Given the description of an element on the screen output the (x, y) to click on. 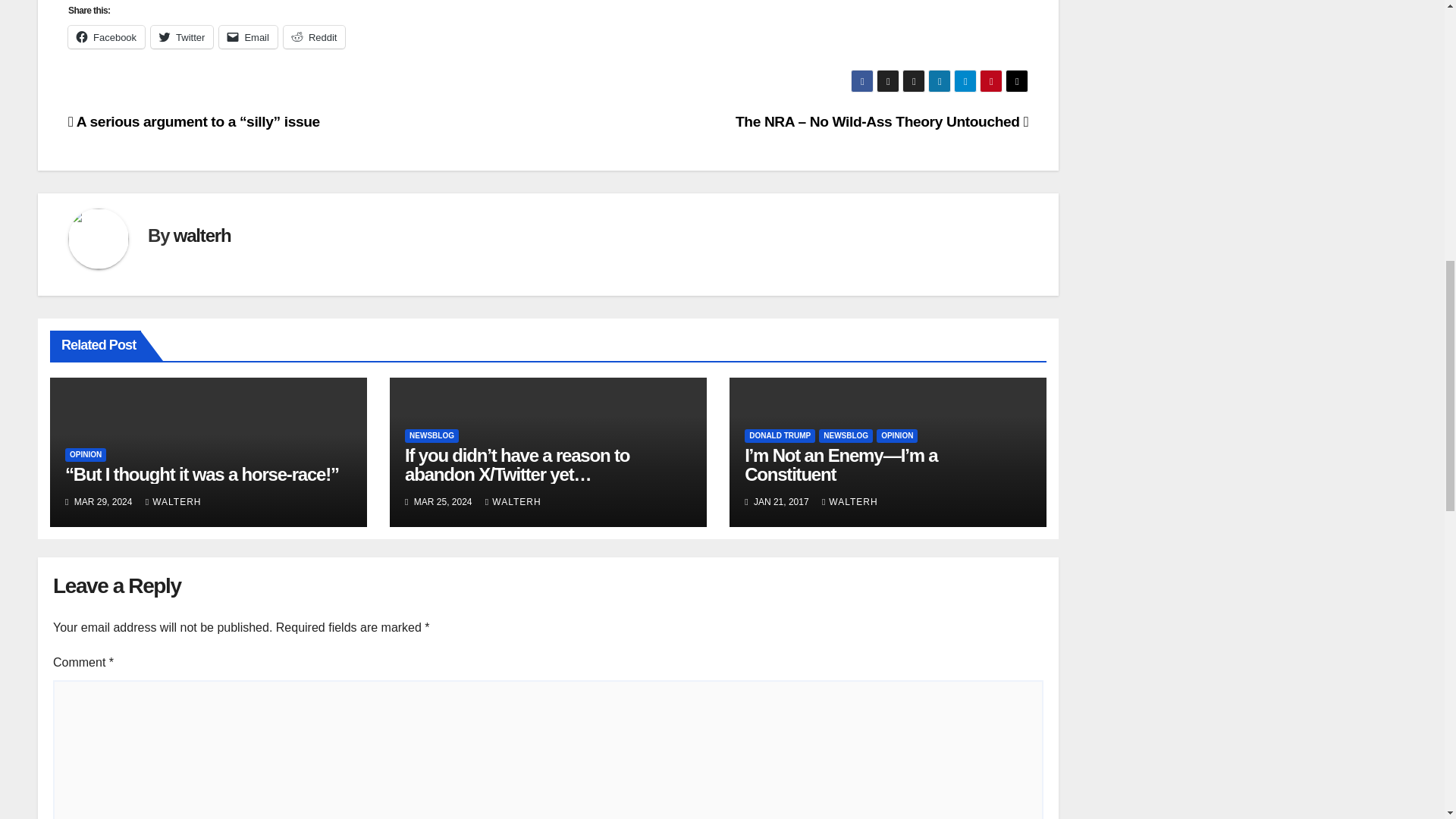
Click to share on Twitter (181, 36)
Click to email a link to a friend (248, 36)
Click to share on Facebook (106, 36)
Click to share on Reddit (314, 36)
